Given the description of an element on the screen output the (x, y) to click on. 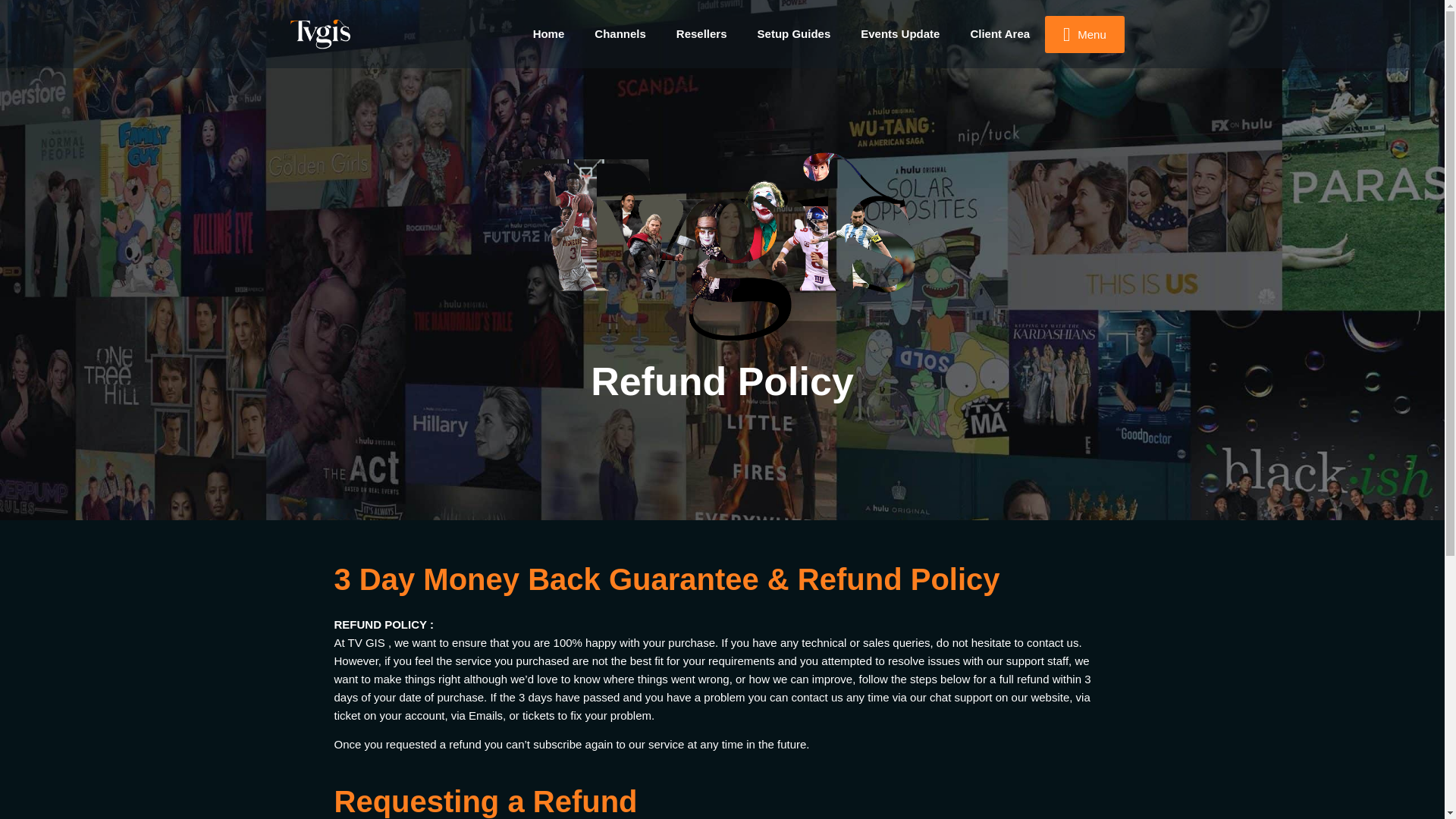
Channels (620, 33)
Client Area (1000, 33)
Home (548, 33)
Setup Guides (793, 33)
Resellers (701, 33)
Events Update (900, 33)
